Given the description of an element on the screen output the (x, y) to click on. 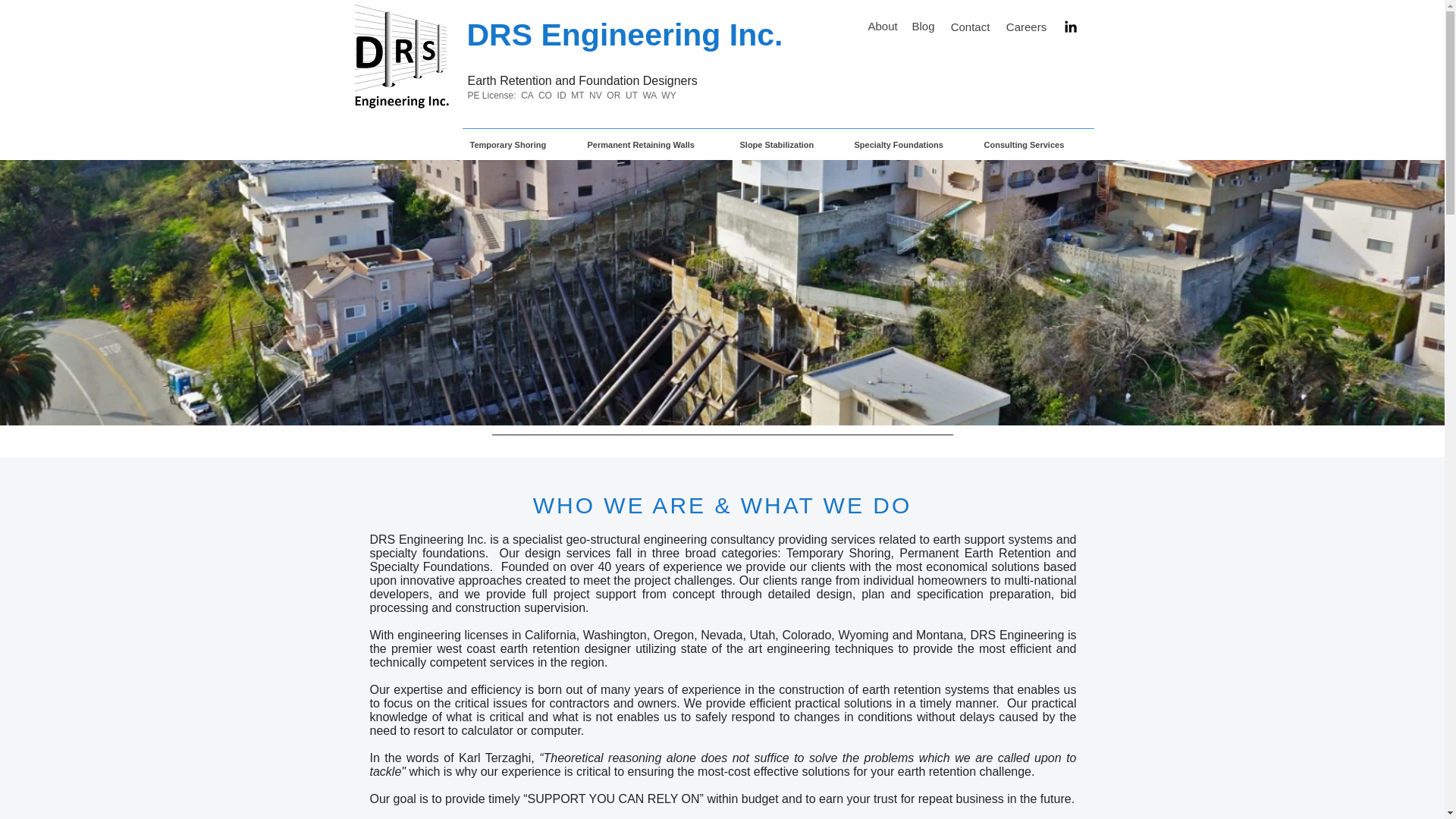
Slope Stabilization (789, 144)
Contact (970, 27)
Consulting Services (1035, 144)
About (881, 26)
DRS Engineering Inc. (625, 34)
Specialty Foundations (910, 144)
Permanent Retaining Walls (655, 144)
Blog (923, 26)
Temporary Shoring (521, 144)
Careers (1027, 27)
